Given the description of an element on the screen output the (x, y) to click on. 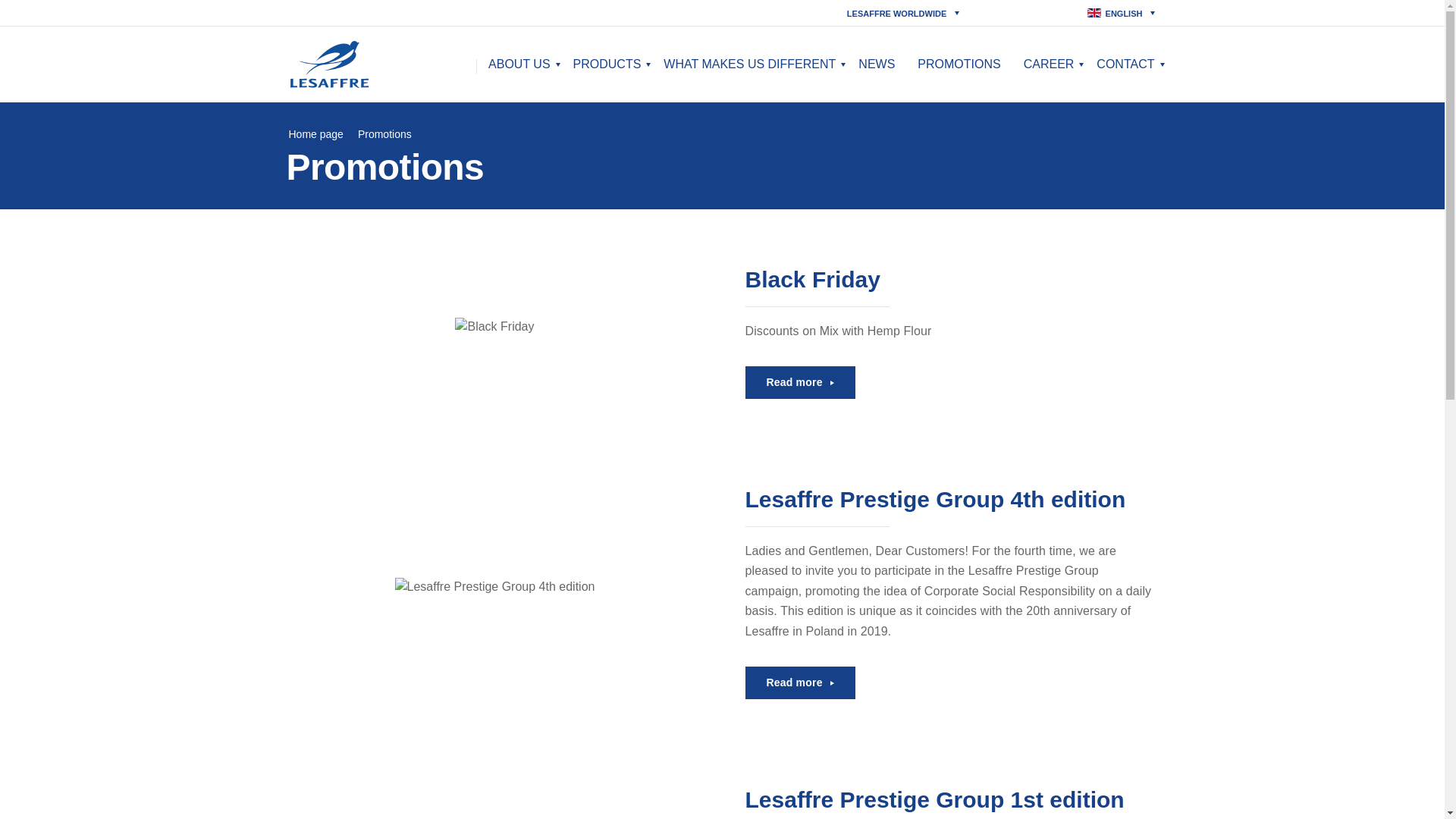
Home page (315, 133)
NEWS (876, 64)
CONTACT (1125, 64)
ABOUT US (519, 64)
WHAT MAKES US DIFFERENT (749, 64)
PROMOTIONS (958, 64)
CAREER (1048, 64)
PRODUCTS (607, 64)
